Given the description of an element on the screen output the (x, y) to click on. 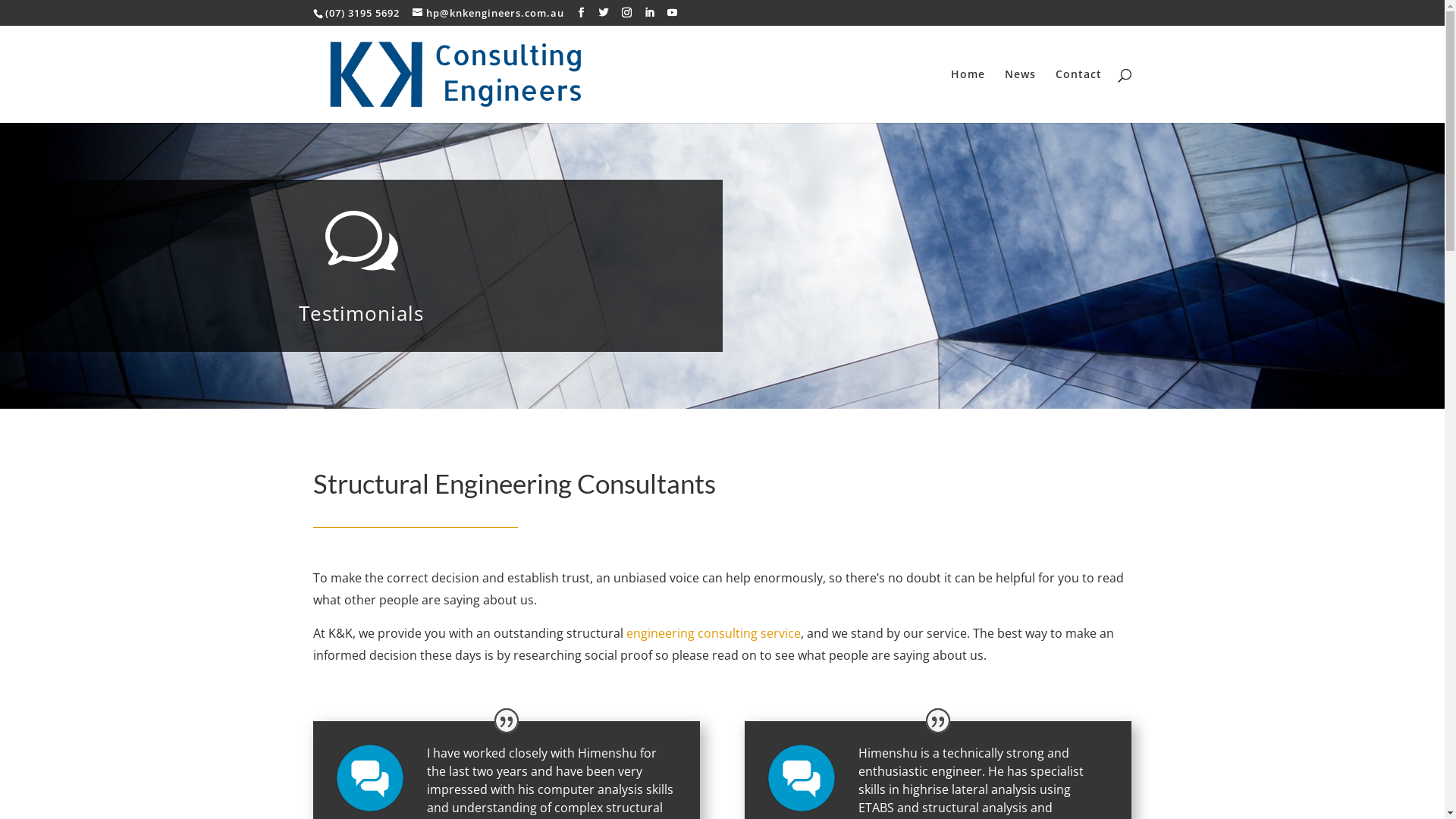
ETABS Element type: text (876, 807)
engineering consulting service Element type: text (713, 632)
Contact Element type: text (1078, 95)
News Element type: text (1019, 95)
hp@knkengineers.com.au Element type: text (488, 12)
Home Element type: text (967, 95)
